Given the description of an element on the screen output the (x, y) to click on. 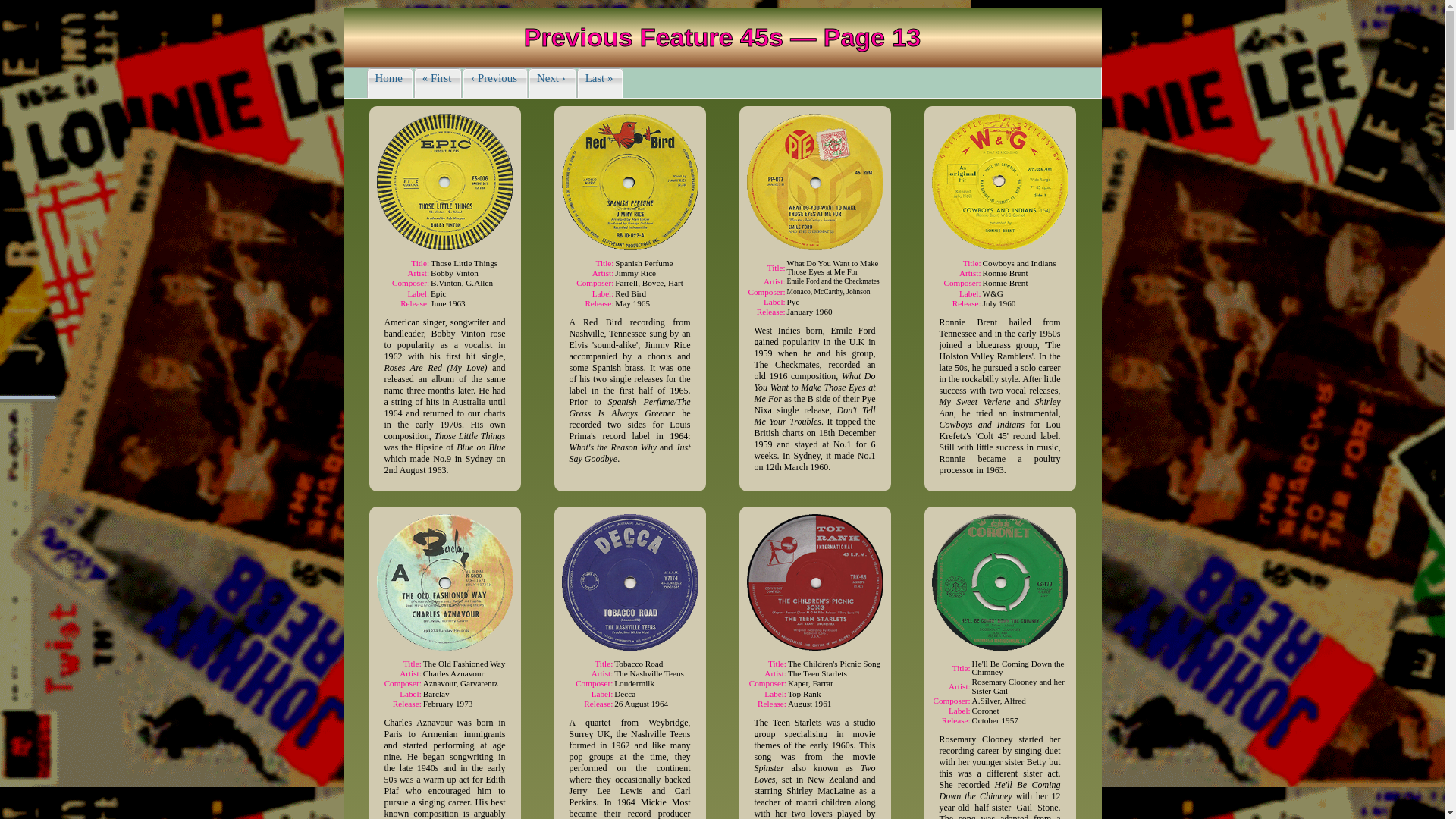
Home Element type: text (390, 82)
